Given the description of an element on the screen output the (x, y) to click on. 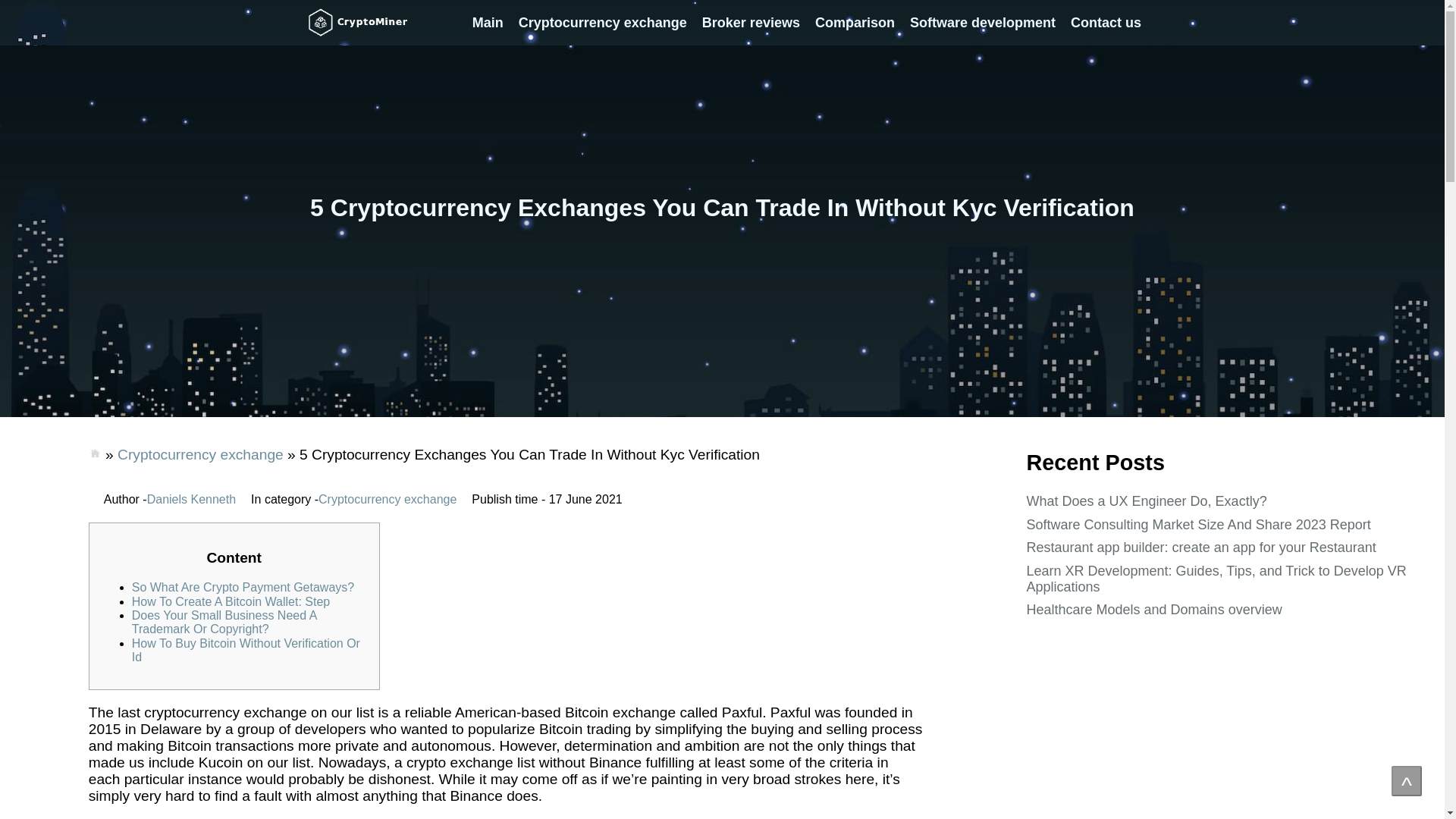
Cryptocurrency exchange (200, 454)
Contact us (1105, 22)
Software development (982, 22)
How To Buy Bitcoin Without Verification Or Id (245, 650)
Does Your Small Business Need A Trademark Or Copyright? (224, 622)
Cryptocurrency exchange (602, 22)
Broker reviews (751, 22)
Go to top (1406, 780)
Comparison (855, 22)
Cryptocurrency exchange (387, 499)
Daniels Kenneth (191, 499)
Main (487, 22)
So What Are Crypto Payment Getaways? (242, 586)
How To Create A Bitcoin Wallet: Step (231, 601)
